Given the description of an element on the screen output the (x, y) to click on. 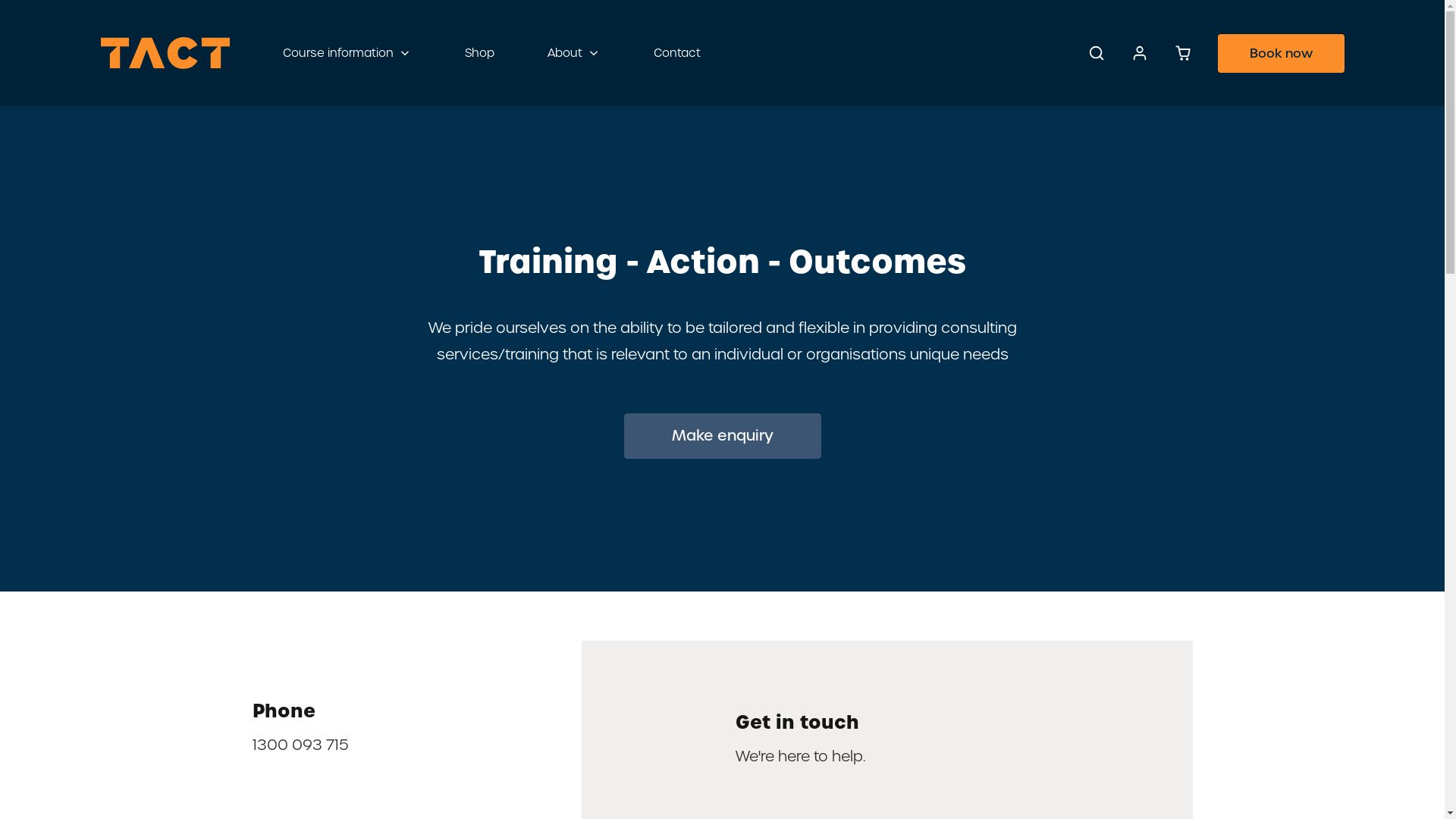
Toggle search Element type: text (1096, 53)
1300 093 715 Element type: text (299, 744)
Contact Element type: text (676, 53)
Book now Element type: text (1280, 52)
Shop Element type: text (479, 53)
Make enquiry Element type: text (721, 435)
Login Element type: text (1138, 53)
About Element type: text (573, 53)
Shopping cart Element type: text (1182, 53)
Course information Element type: text (347, 53)
Tact Training Element type: text (164, 53)
